Given the description of an element on the screen output the (x, y) to click on. 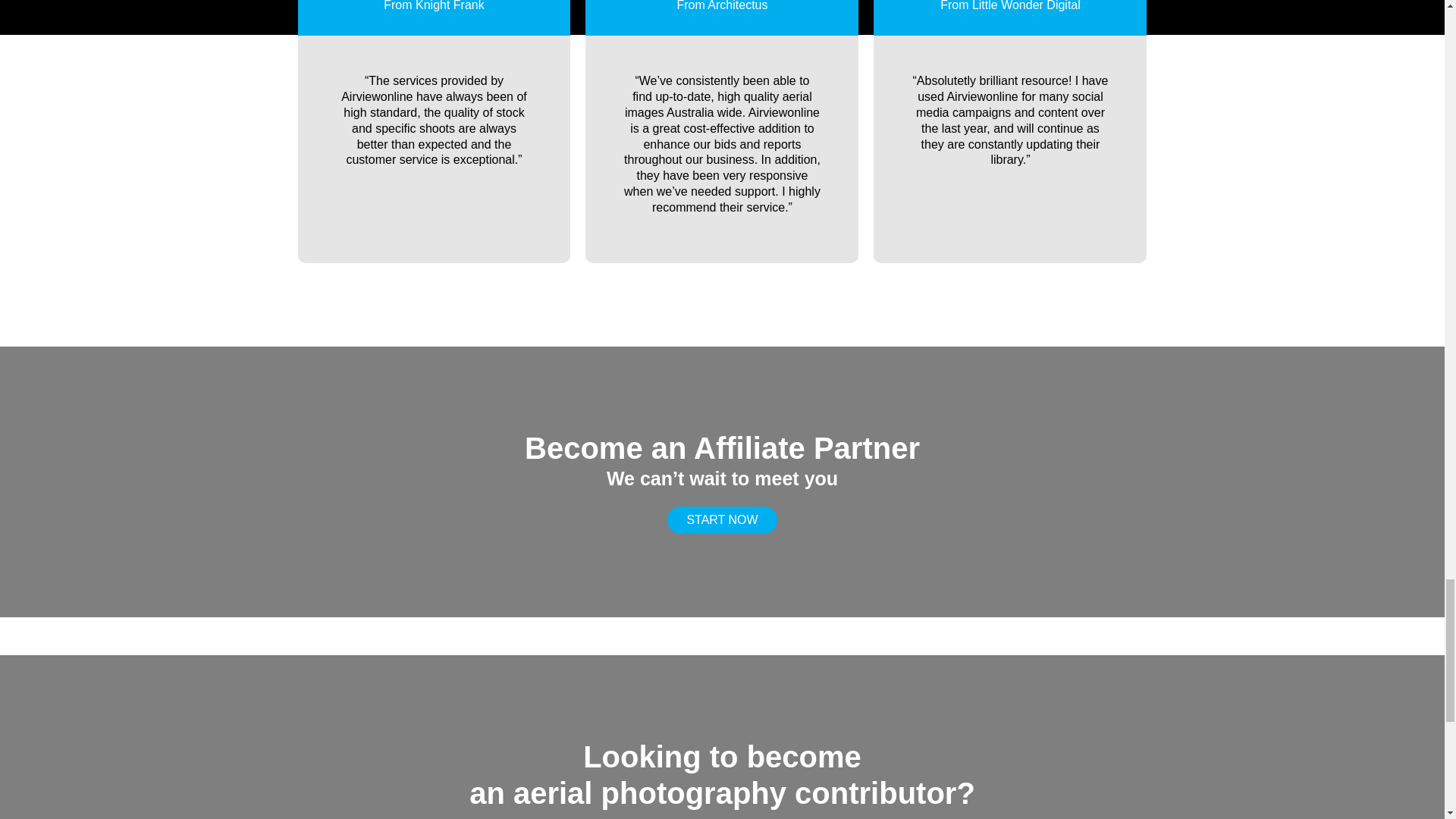
START NOW (721, 519)
